Given the description of an element on the screen output the (x, y) to click on. 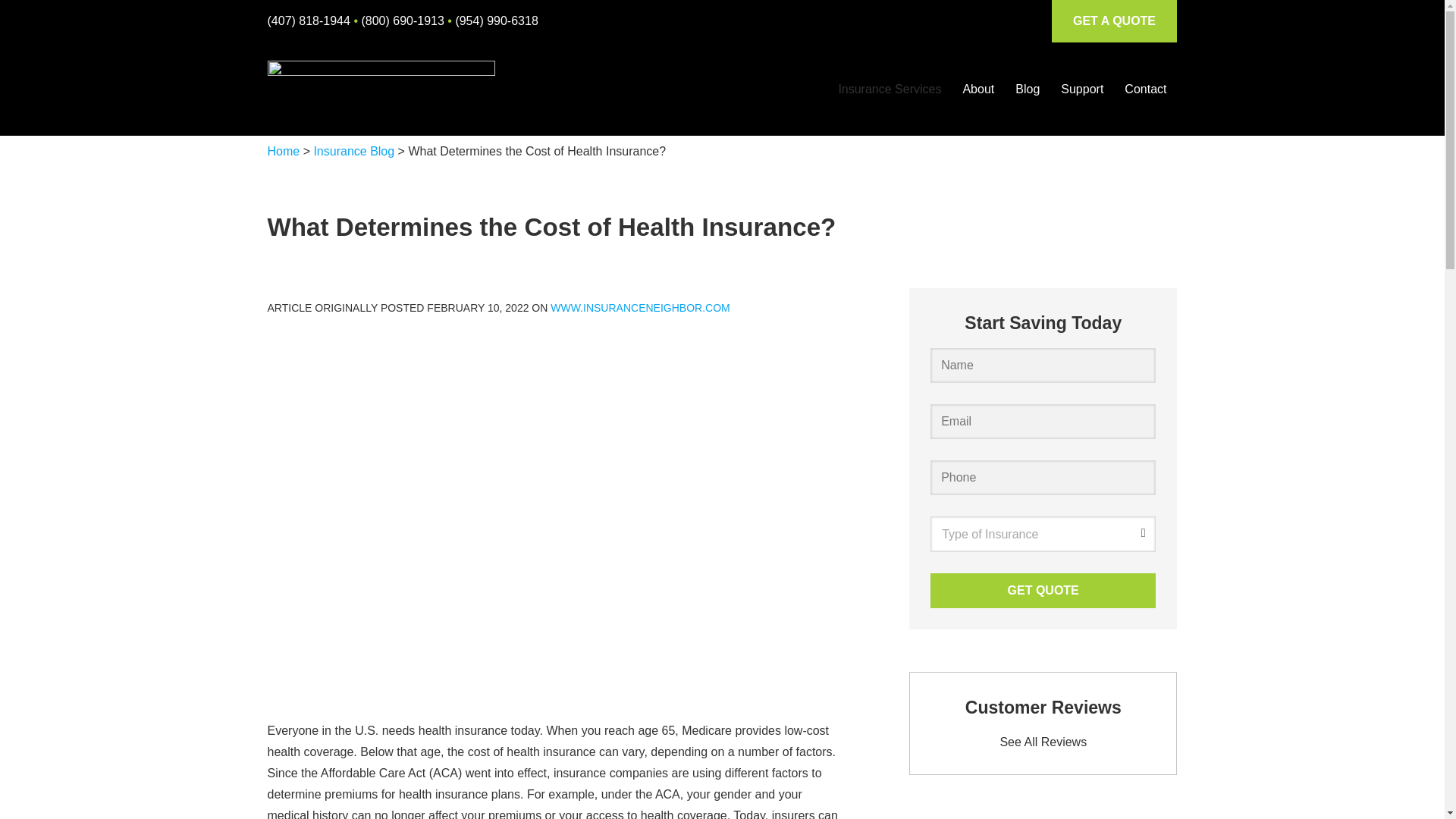
Get Quote (1043, 590)
Insurance Services (889, 88)
GET A QUOTE (1113, 21)
